Given the description of an element on the screen output the (x, y) to click on. 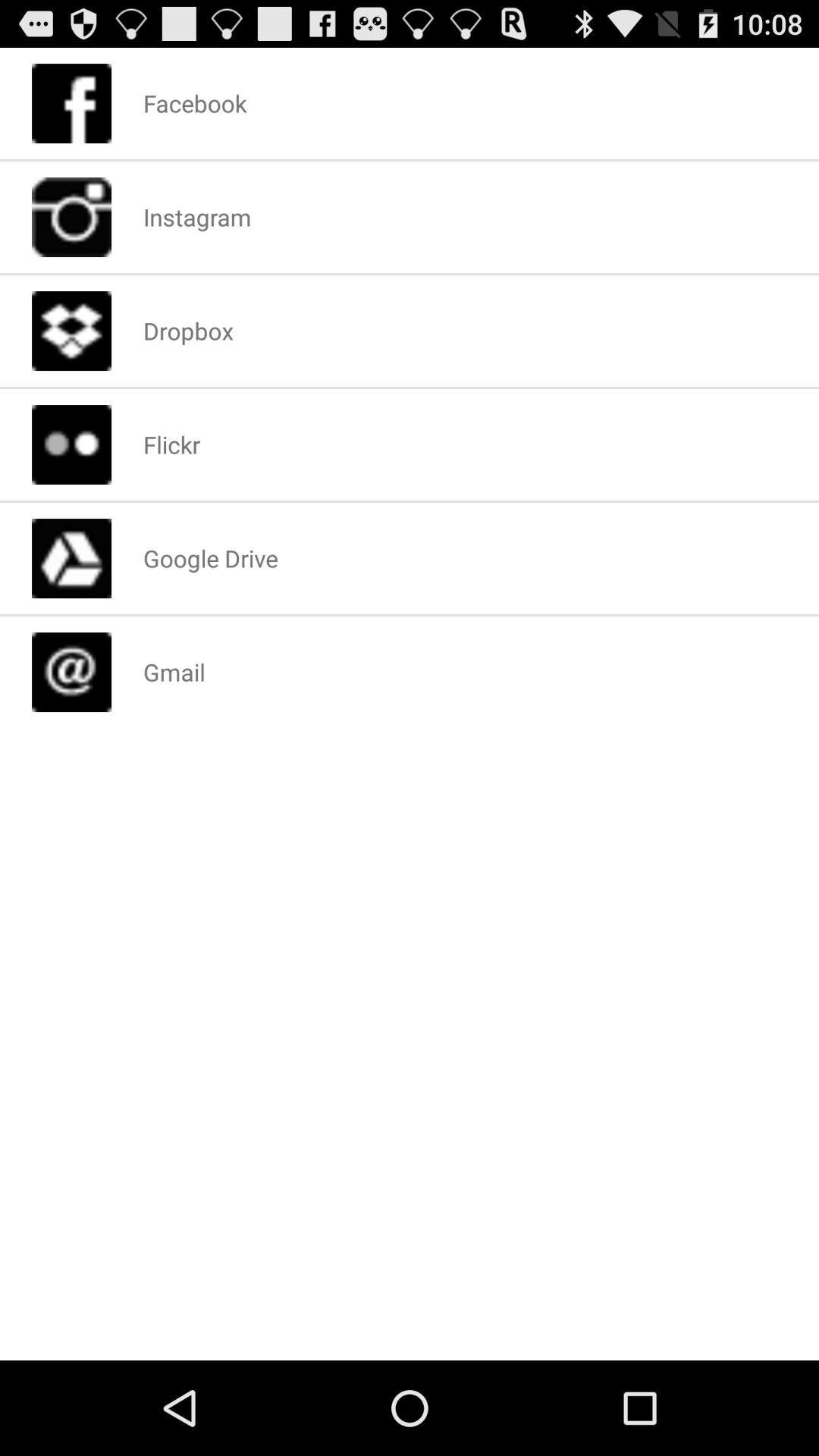
tap item below facebook item (197, 216)
